Given the description of an element on the screen output the (x, y) to click on. 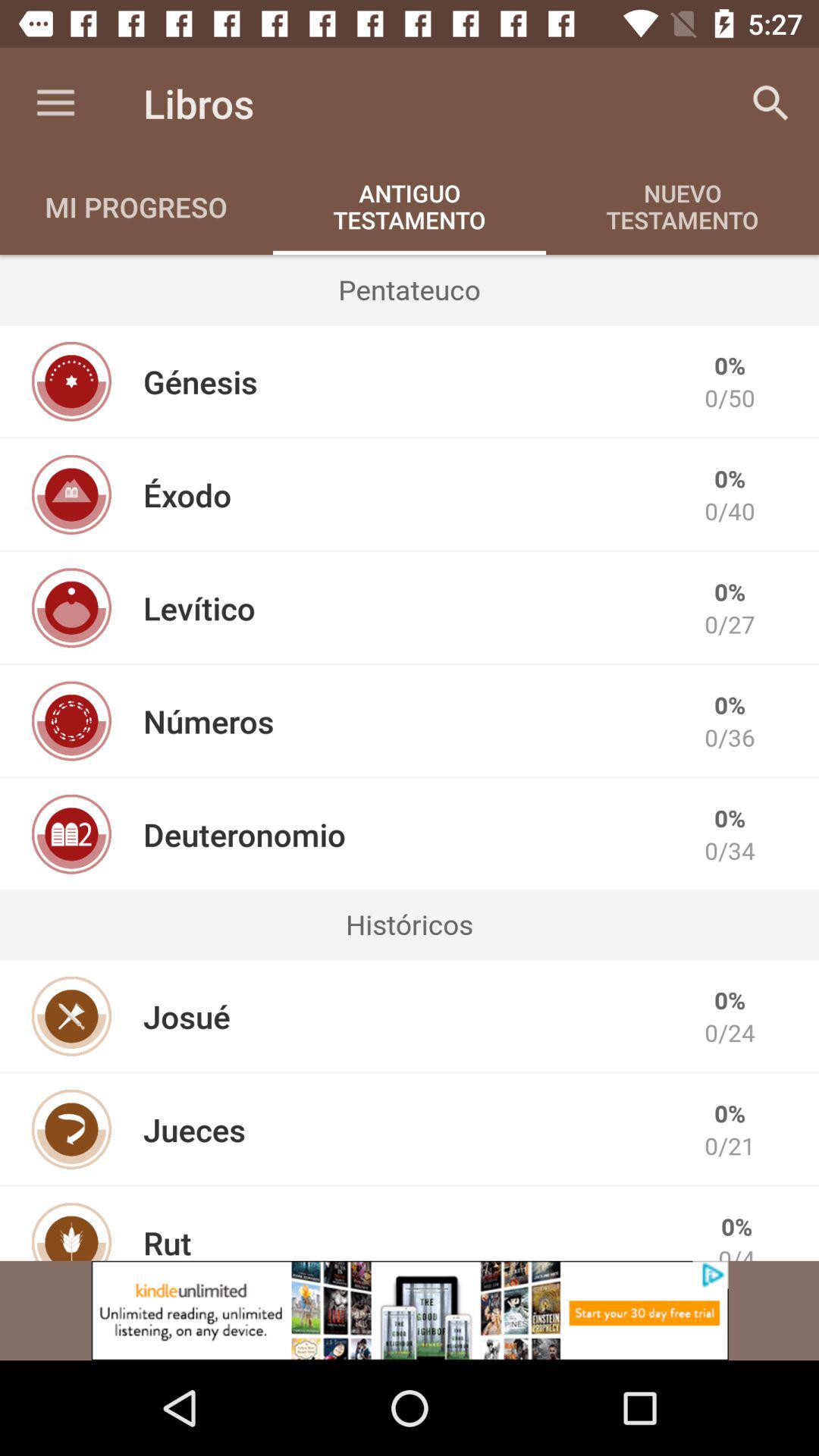
click item to the left of the 0/50 item (200, 381)
